Given the description of an element on the screen output the (x, y) to click on. 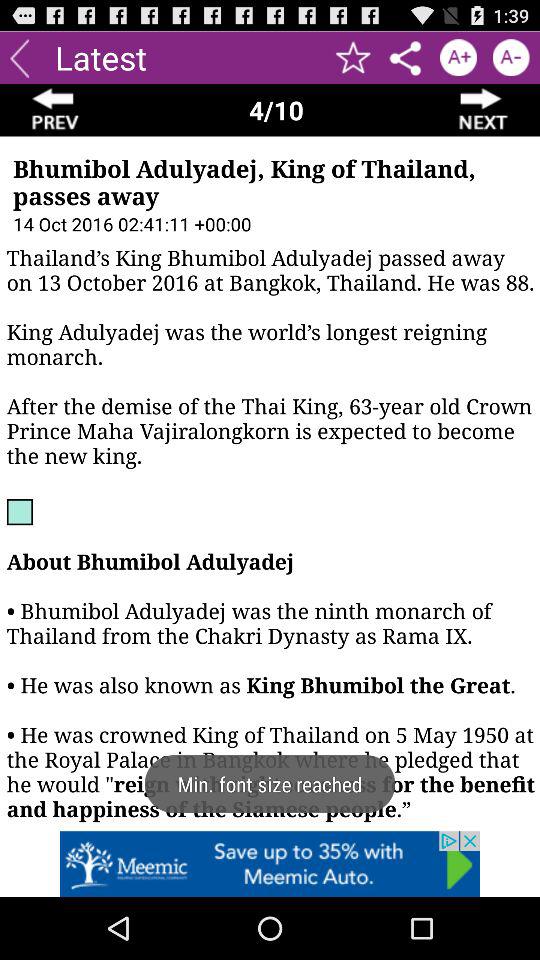
go back (19, 57)
